Given the description of an element on the screen output the (x, y) to click on. 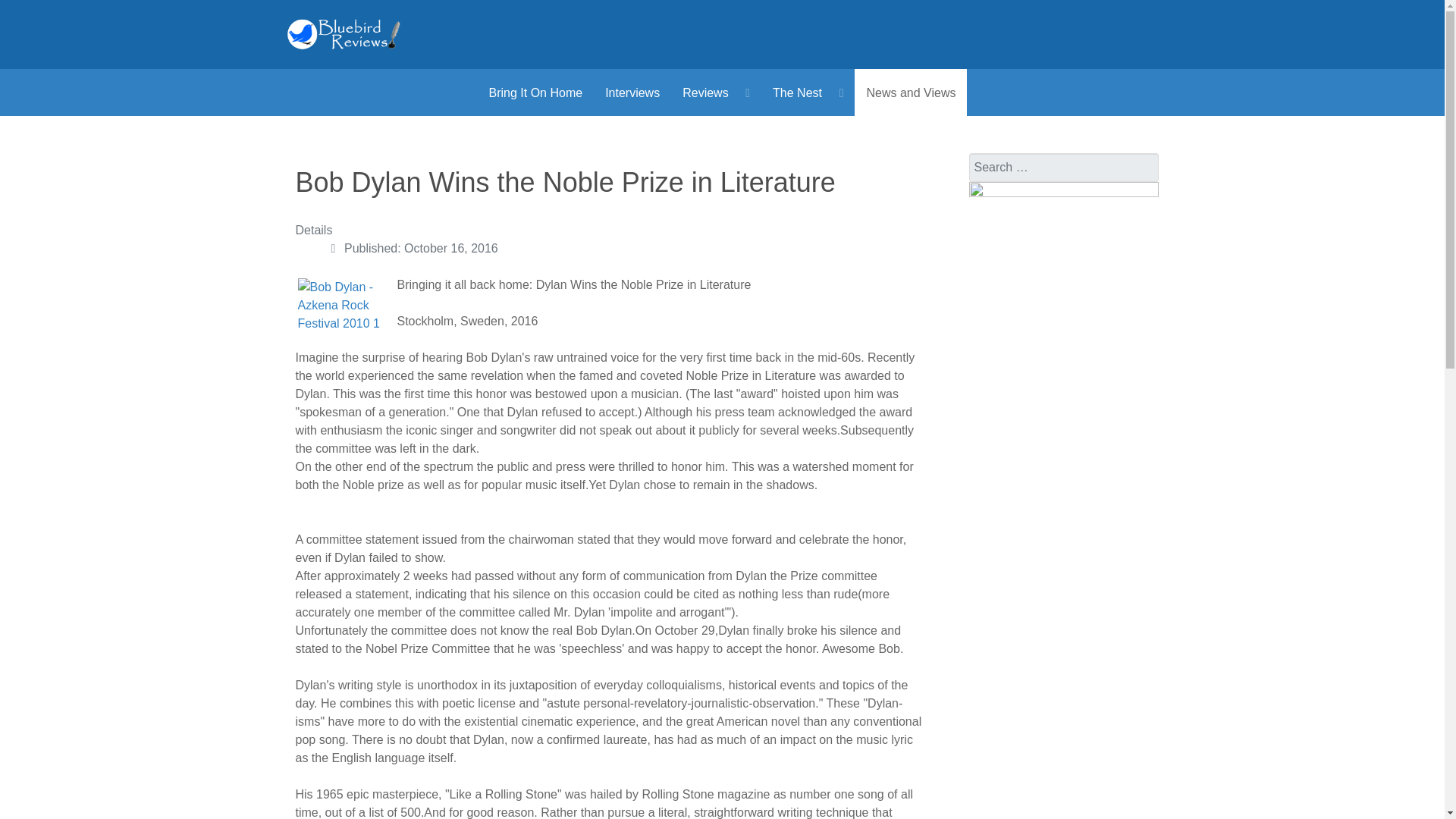
Reviews (716, 92)
News and Views (910, 92)
Interviews (632, 92)
Bring It On Home (535, 92)
Bluebird Reviews (343, 33)
The Nest (807, 92)
Bring It On Home (535, 92)
